Given the description of an element on the screen output the (x, y) to click on. 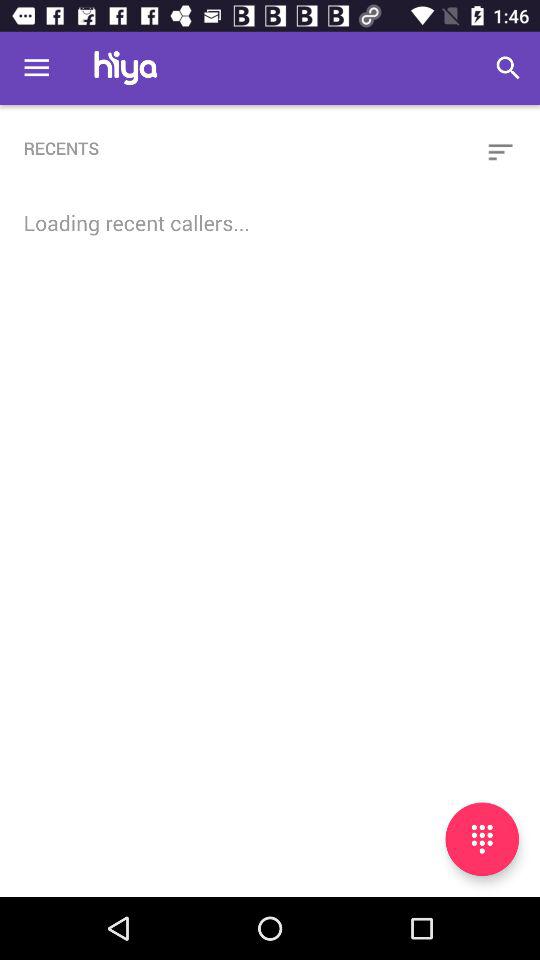
menu button (482, 839)
